Given the description of an element on the screen output the (x, y) to click on. 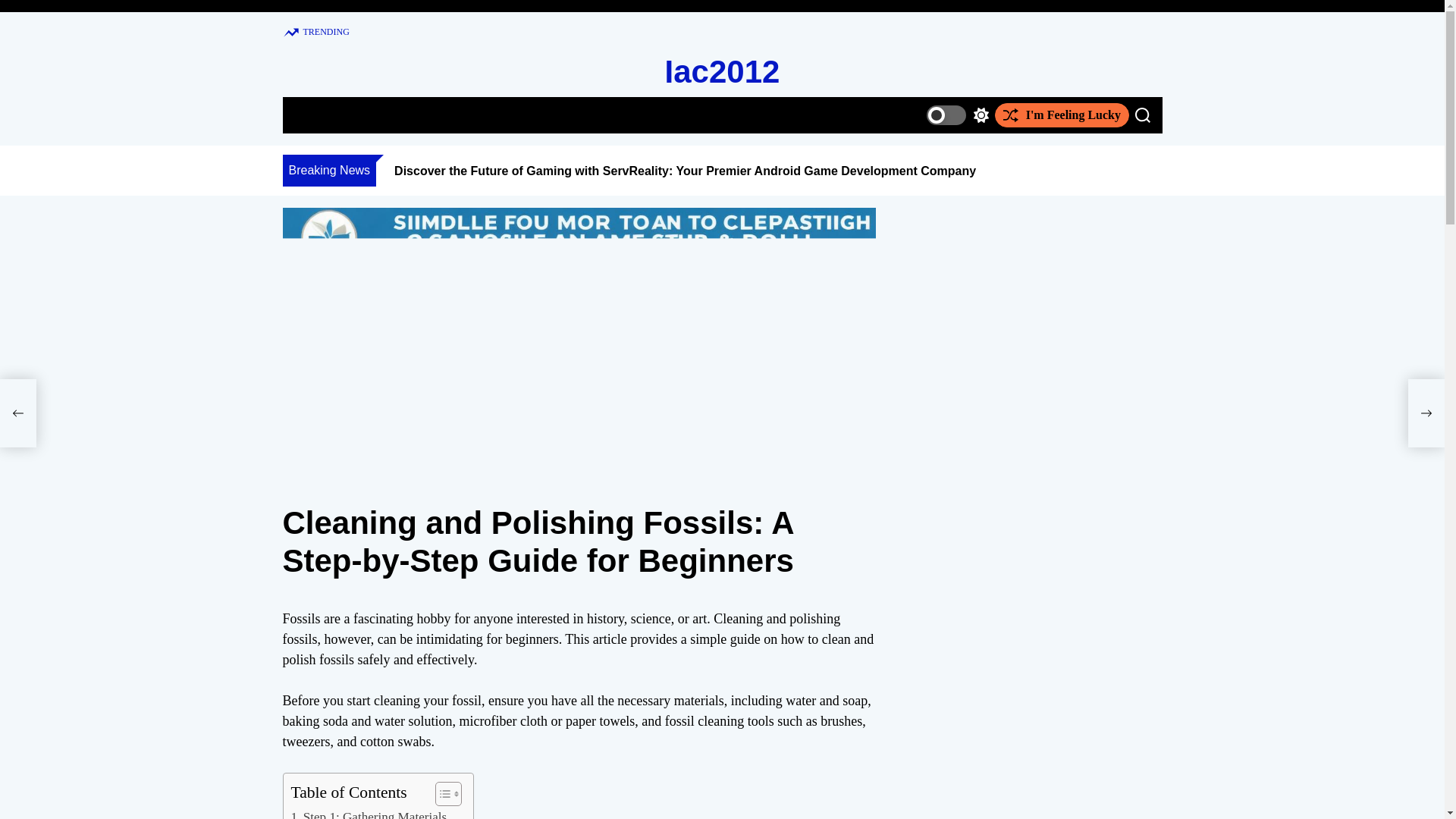
Switch color mode (957, 115)
I'm Feeling Lucky (1061, 115)
Step 1: Gathering Materials (368, 812)
Iac2012 (722, 71)
Step 1: Gathering Materials (368, 812)
Search (1142, 114)
